Given the description of an element on the screen output the (x, y) to click on. 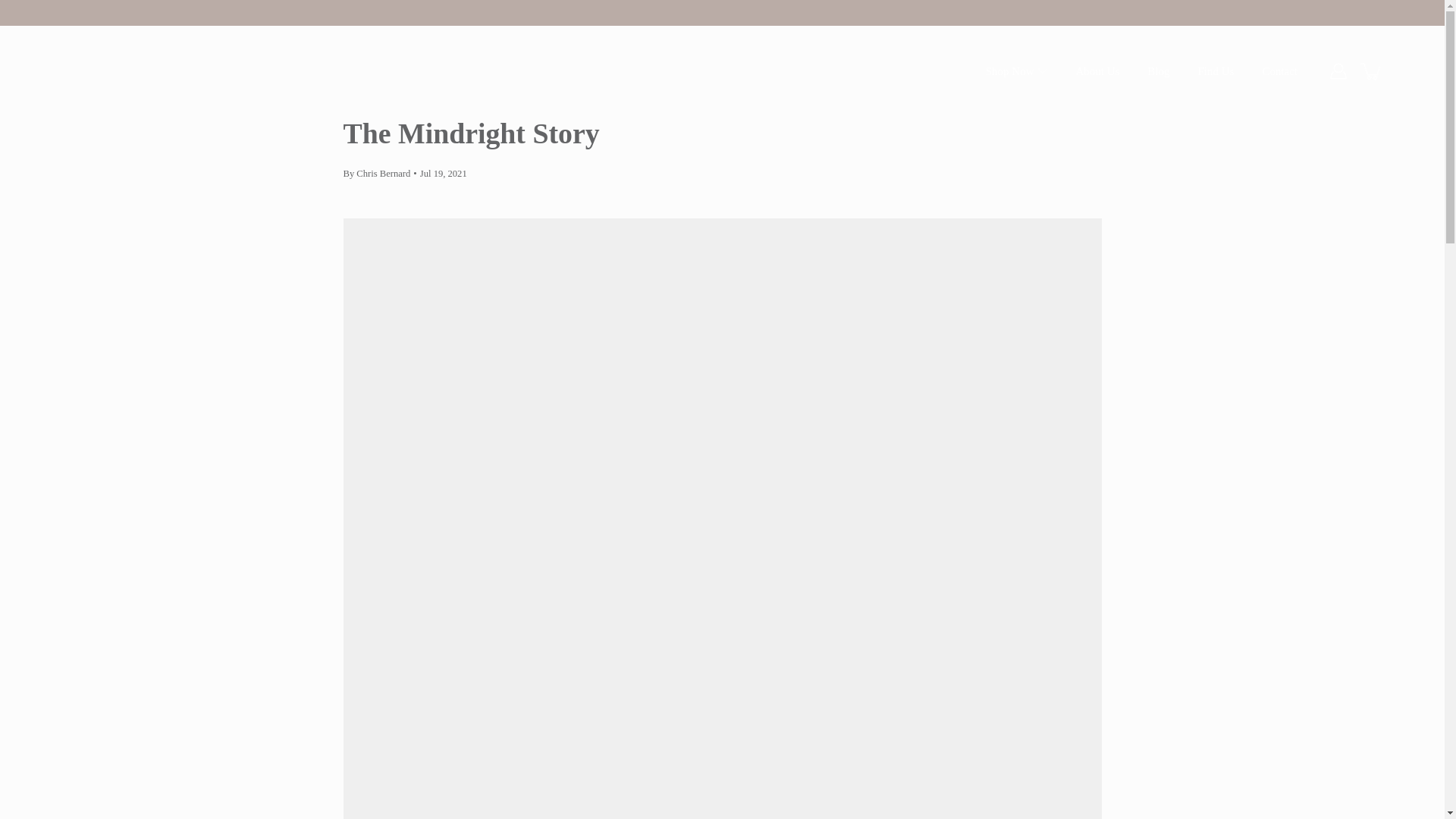
Blog (1158, 71)
About Us (1097, 71)
Contact (1279, 71)
Shop Now (1009, 71)
Find Us (1216, 71)
